Given the description of an element on the screen output the (x, y) to click on. 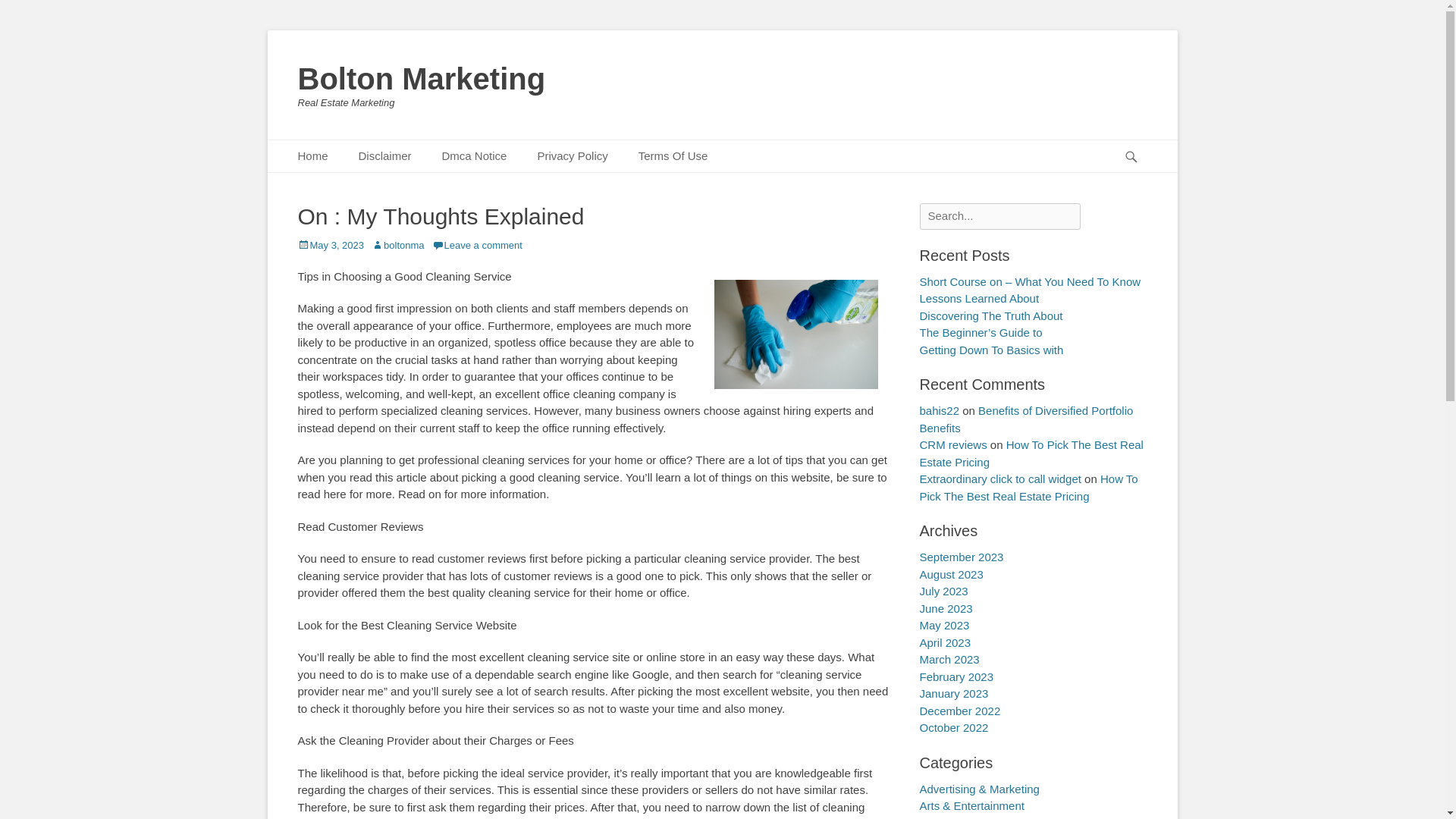
Discovering The Truth About (990, 315)
Extraordinary click to call widget (999, 478)
boltonma (397, 244)
September 2023 (960, 556)
Benefits of Diversified Portfolio Benefits (1025, 419)
Search for: (999, 216)
Disclaimer (384, 156)
Dmca Notice (474, 156)
August 2023 (950, 574)
May 3, 2023 (330, 244)
